Given the description of an element on the screen output the (x, y) to click on. 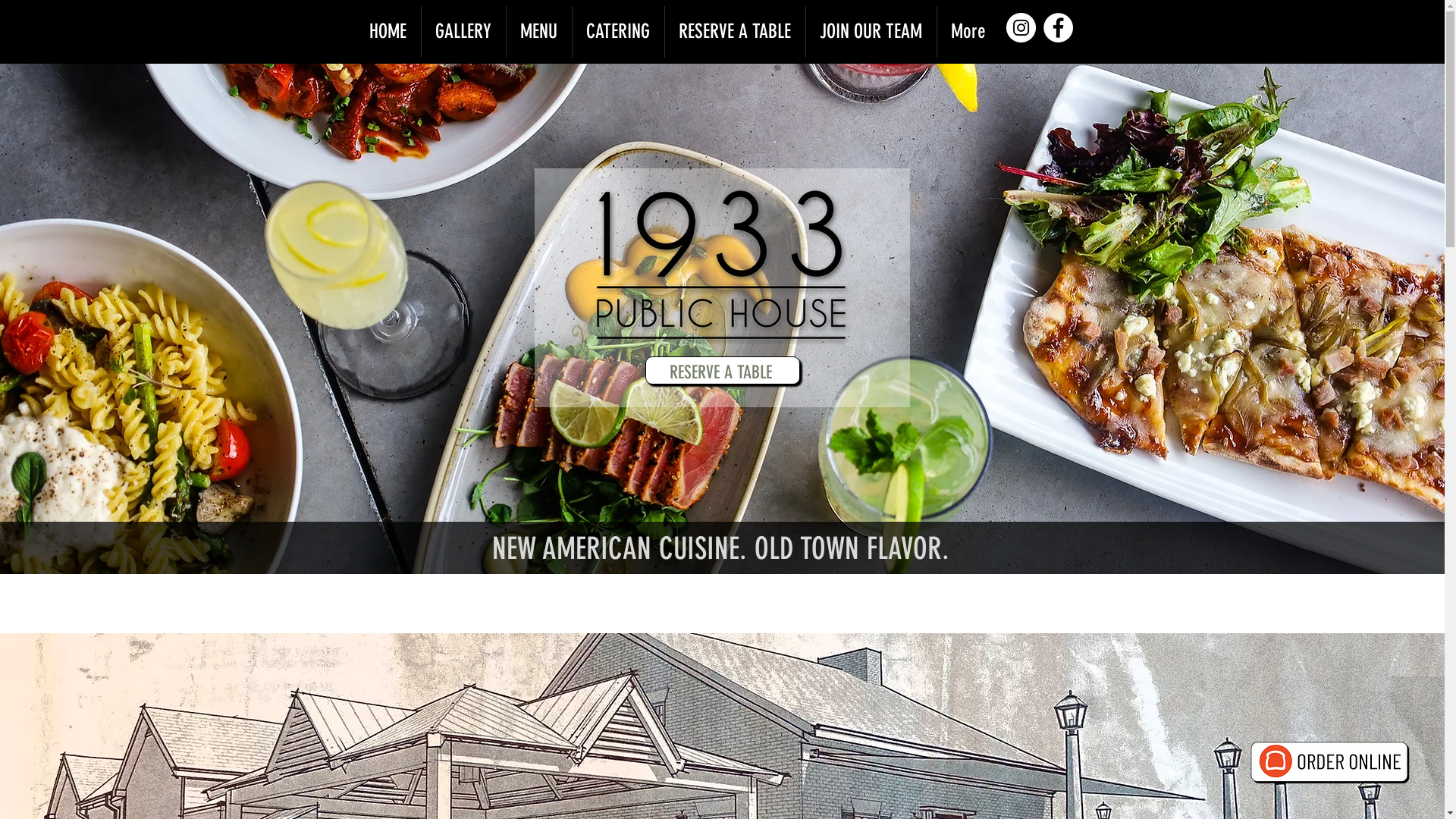
RESERVE A TABLE Element type: text (734, 31)
CATERING Element type: text (617, 31)
MENU Element type: text (538, 31)
JOIN OUR TEAM Element type: text (870, 31)
HOME Element type: text (387, 31)
RESERVE A TABLE Element type: text (721, 370)
GALLERY Element type: text (463, 31)
